Given the description of an element on the screen output the (x, y) to click on. 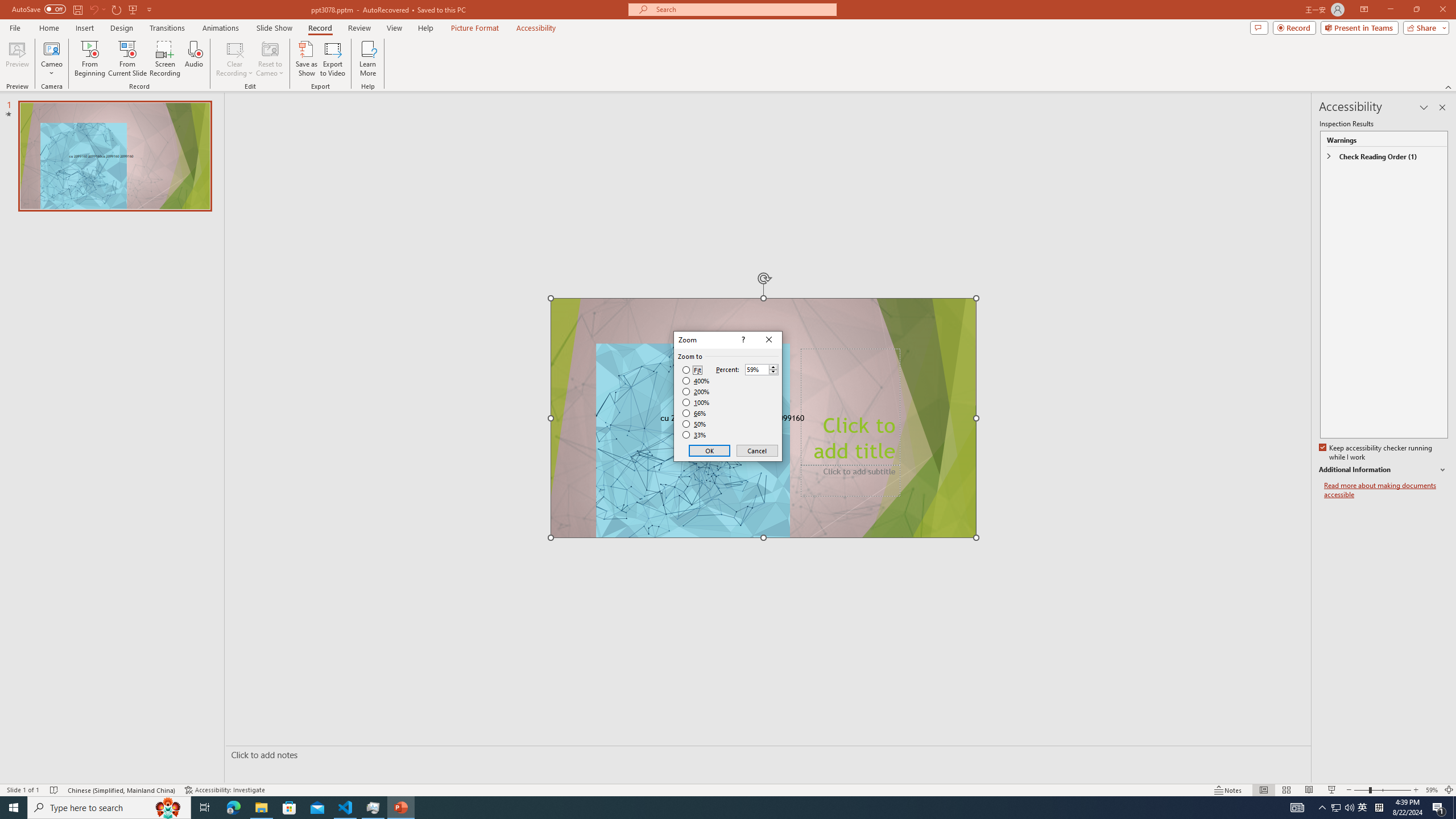
Notification Chevron (1322, 807)
Fit (691, 370)
Visual Studio Code - 1 running window (345, 807)
100% (696, 402)
Task Manager - 1 running window (373, 807)
Task Pane Options (1423, 107)
Percent (756, 369)
